Given the description of an element on the screen output the (x, y) to click on. 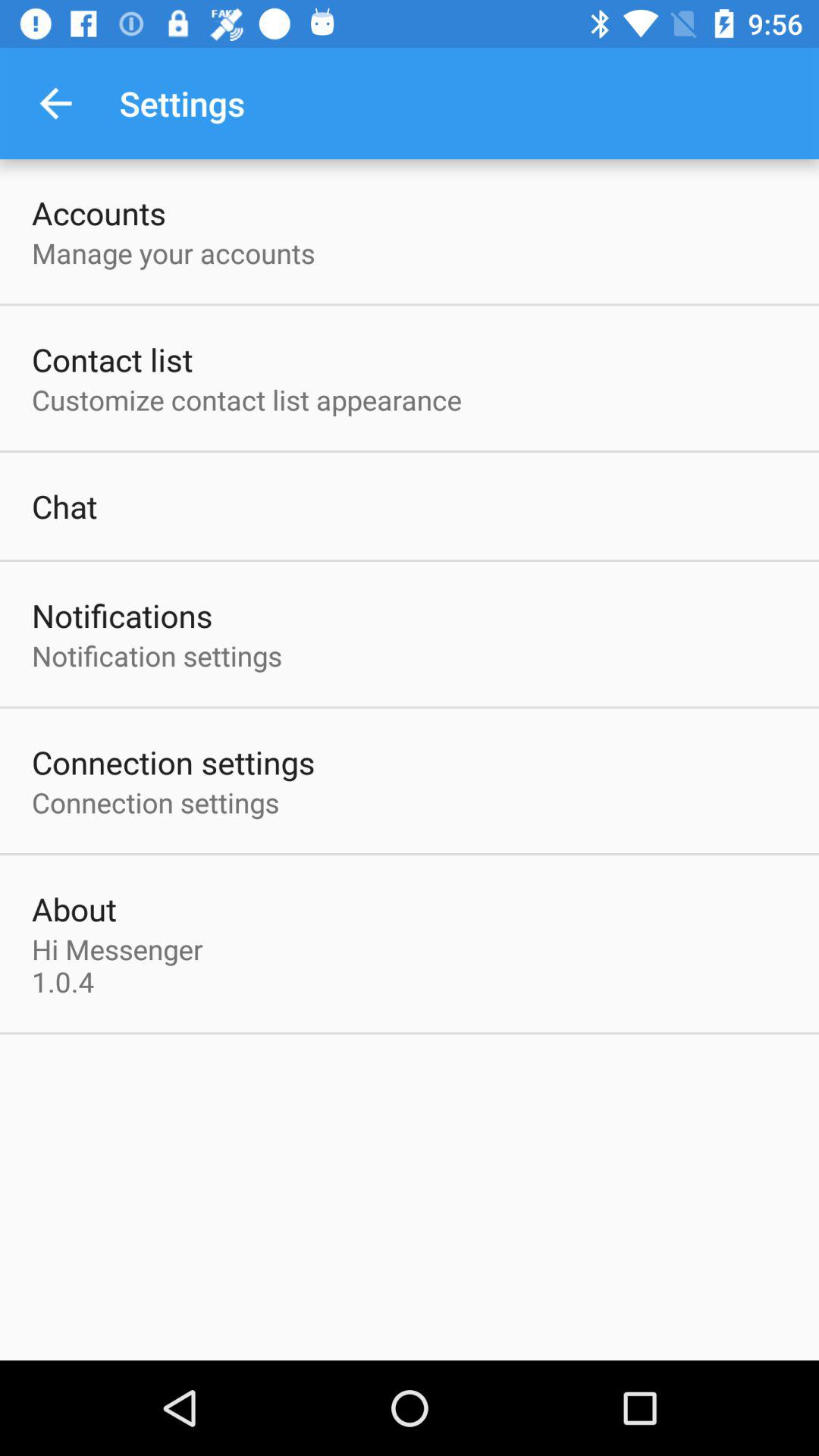
turn on icon below the about (121, 965)
